Given the description of an element on the screen output the (x, y) to click on. 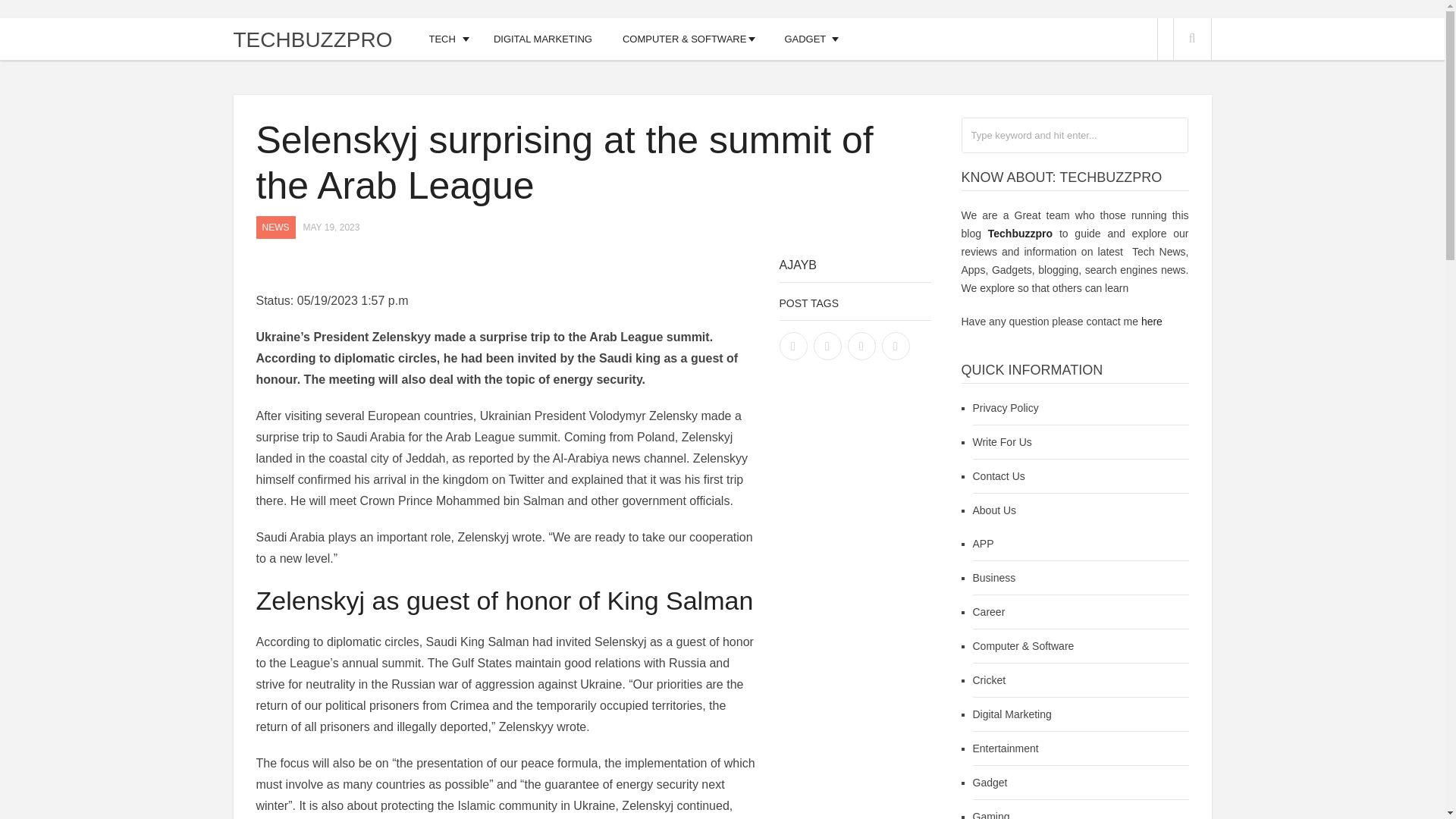
About Us (994, 510)
here (1151, 321)
Business (993, 577)
AJAYB (797, 264)
APP (982, 543)
DIGITAL MARKETING (542, 38)
Write For Us (1001, 441)
GADGET (804, 38)
Type keyword and hit enter... (1074, 135)
TECHBUZZPRO (312, 39)
